Given the description of an element on the screen output the (x, y) to click on. 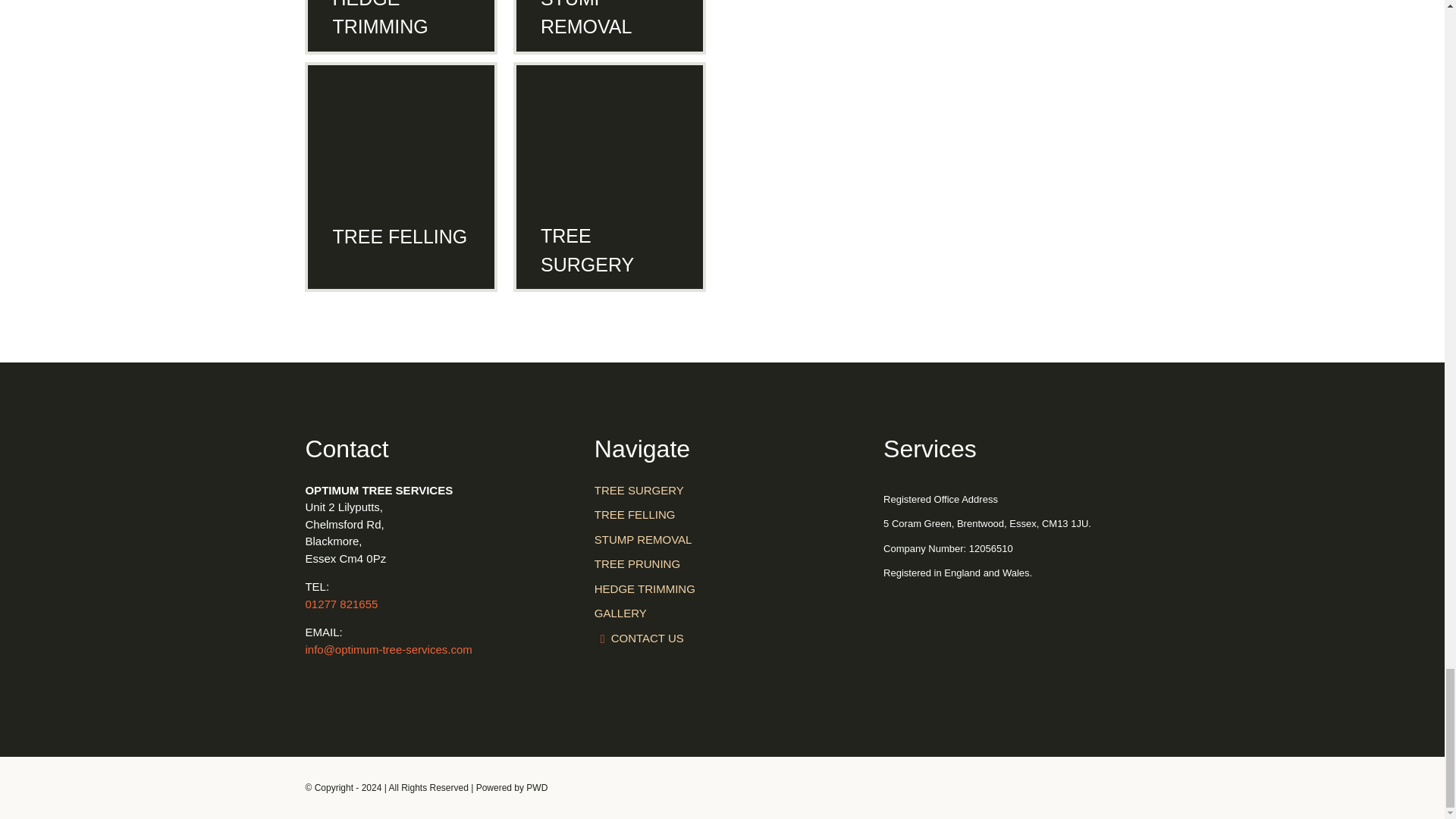
white-logo (1010, 638)
